Given the description of an element on the screen output the (x, y) to click on. 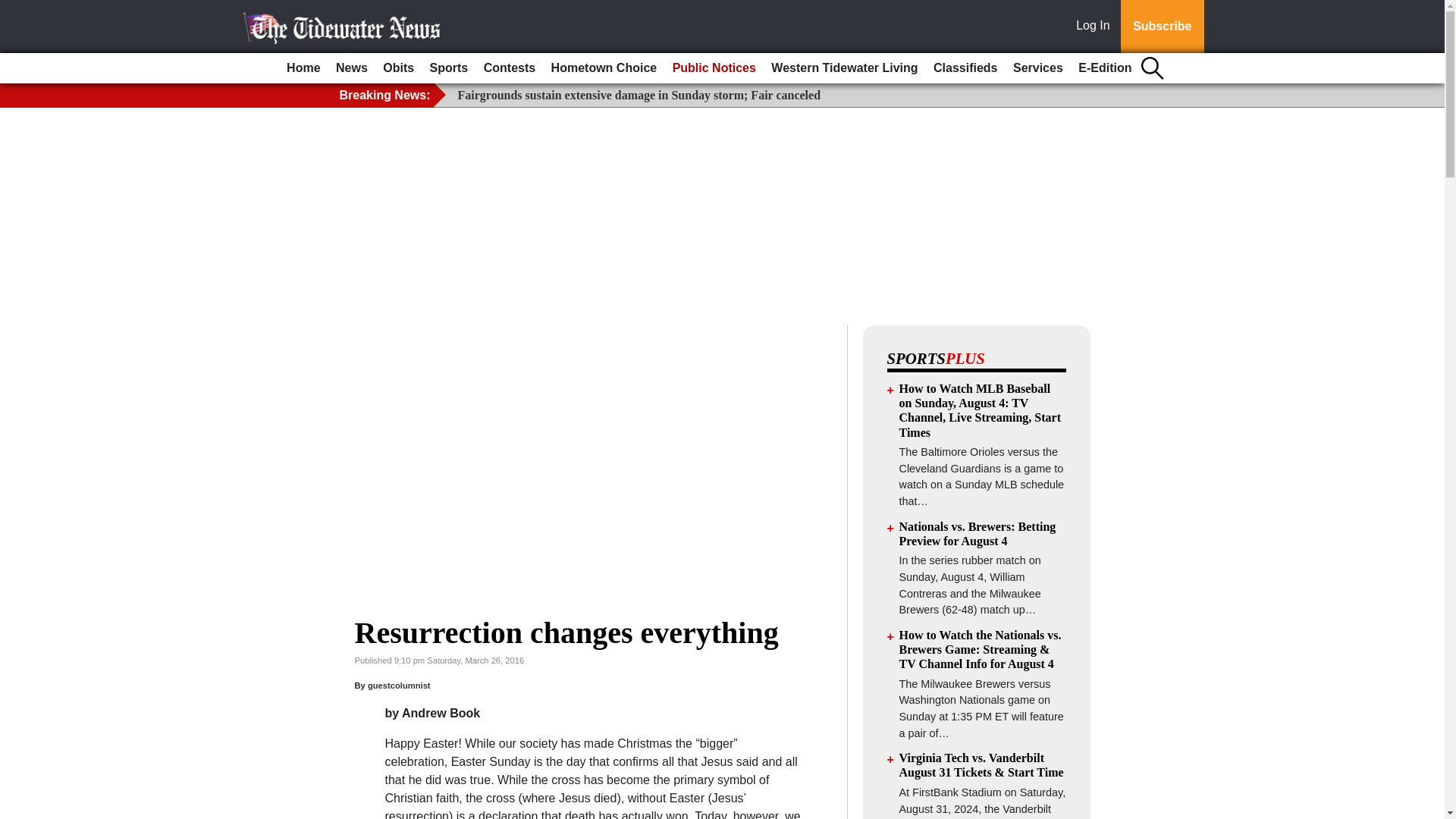
Go (13, 9)
Public Notices (713, 68)
E-Edition (1104, 68)
Log In (1095, 26)
Services (1037, 68)
guestcolumnist (399, 685)
Classifieds (965, 68)
Western Tidewater Living (844, 68)
Subscribe (1162, 26)
